Given the description of an element on the screen output the (x, y) to click on. 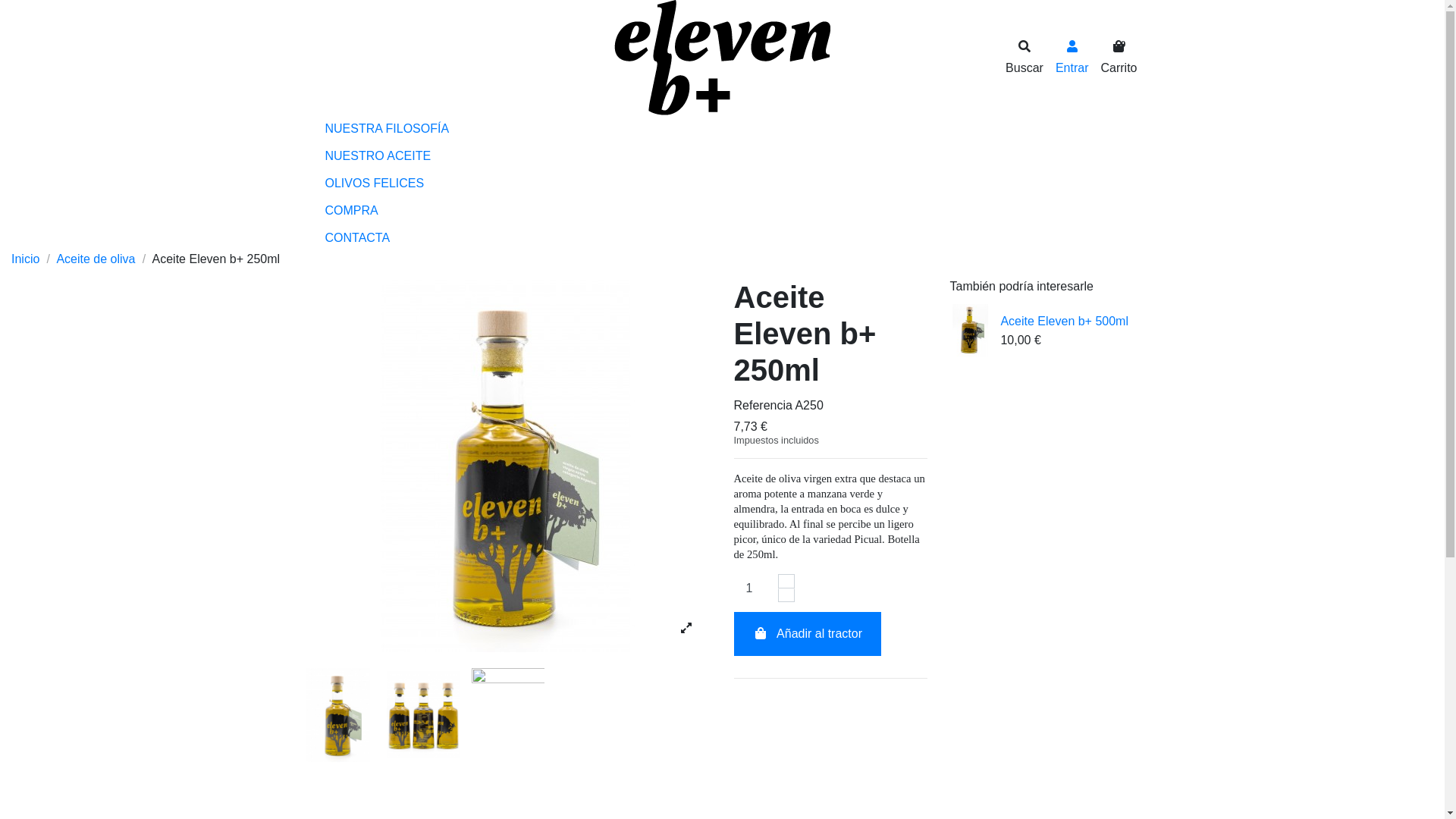
Aceite Eleven b+ 500ml Element type: text (1064, 320)
OLIVOS FELICES Element type: text (721, 183)
COMPRA Element type: text (721, 210)
Aceite Eleven b+ 250ml Element type: hover (505, 465)
CONTACTA Element type: text (721, 237)
Aceite de oliva Element type: text (97, 258)
Inicio Element type: text (27, 258)
Entrar Element type: text (1071, 57)
0
Carrito Element type: text (1118, 57)
Buscar Element type: text (1024, 57)
NUESTRO ACEITE Element type: text (721, 155)
